Given the description of an element on the screen output the (x, y) to click on. 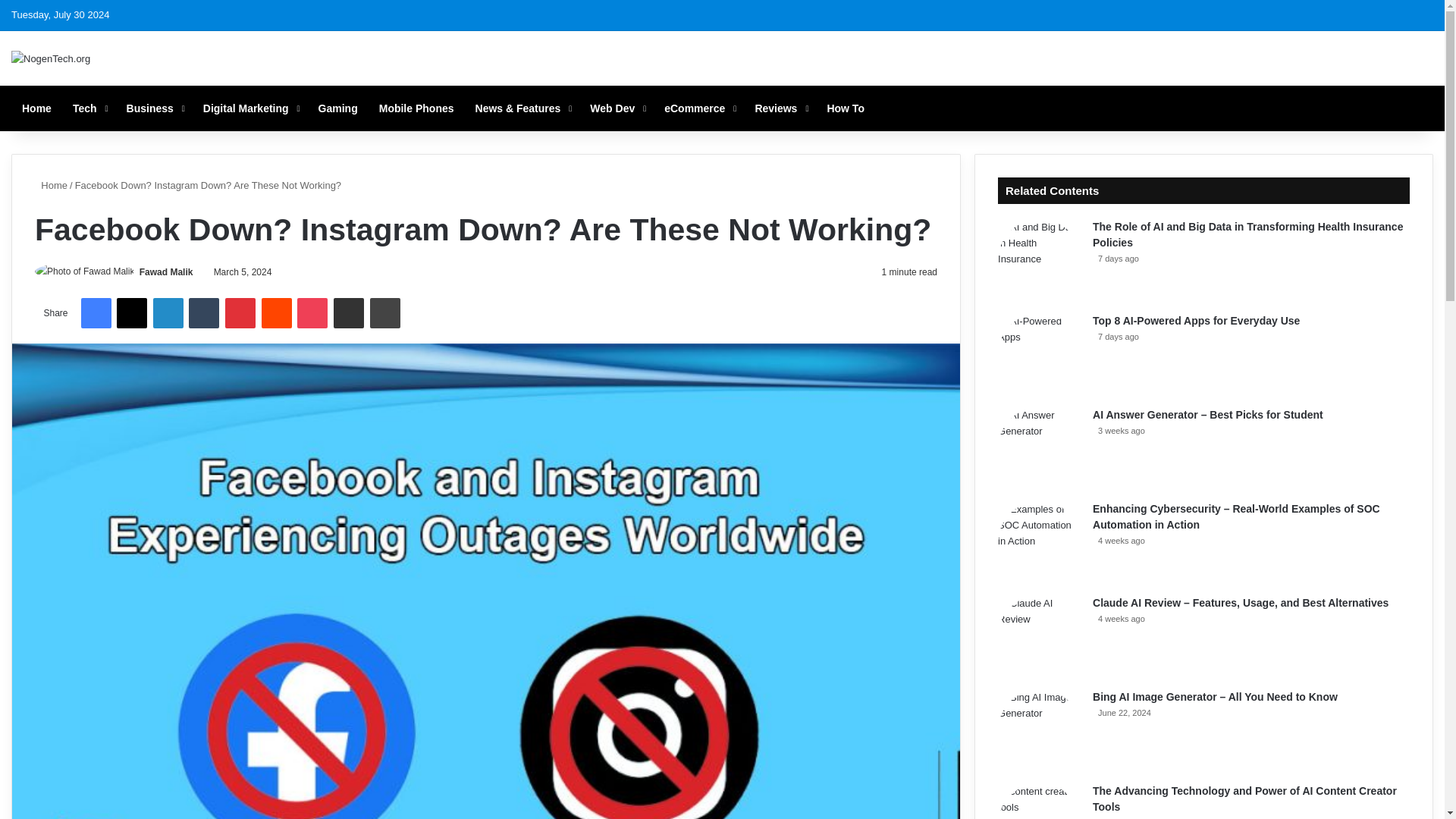
NogenTech.org (50, 57)
Tumblr (204, 313)
LinkedIn (167, 313)
Fawad Malik (166, 271)
Pinterest (240, 313)
Home (36, 108)
X (131, 313)
Share via Email (348, 313)
Pocket (312, 313)
Reddit (277, 313)
Mobile Phones (416, 108)
Digital Marketing (249, 108)
Facebook (95, 313)
Tech (89, 108)
Business (154, 108)
